Given the description of an element on the screen output the (x, y) to click on. 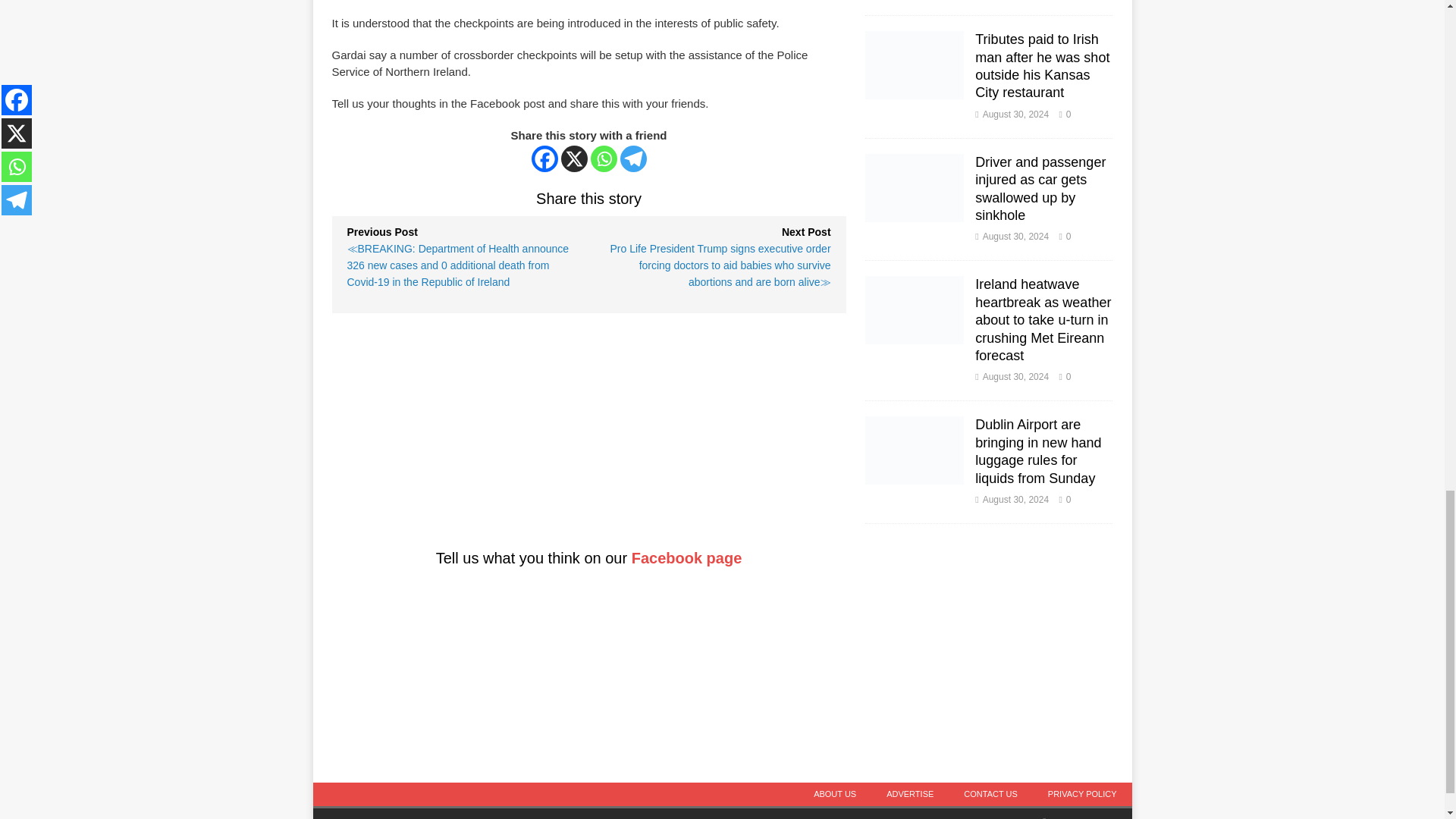
Facebook (544, 158)
X (574, 158)
Facebook page (686, 557)
Whatsapp (604, 158)
Telegram (633, 158)
